Given the description of an element on the screen output the (x, y) to click on. 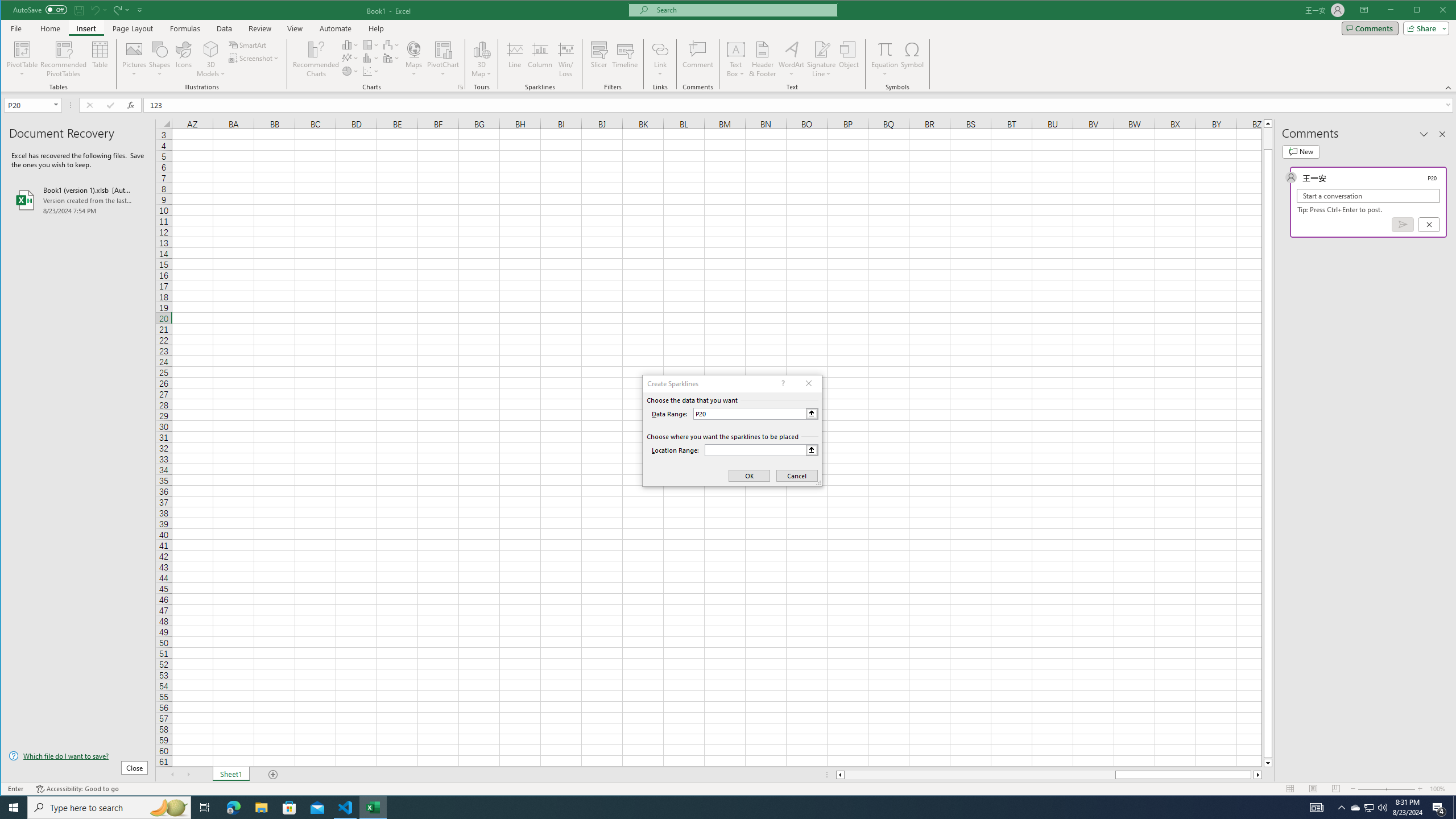
Signature Line (821, 48)
3D Models (211, 48)
Insert Statistic Chart (371, 57)
Insert Hierarchy Chart (371, 44)
Table (100, 59)
3D Models (211, 59)
Slicer... (598, 59)
Screenshot (254, 57)
New comment (1300, 151)
Equation (884, 59)
3D Map (481, 48)
